Given the description of an element on the screen output the (x, y) to click on. 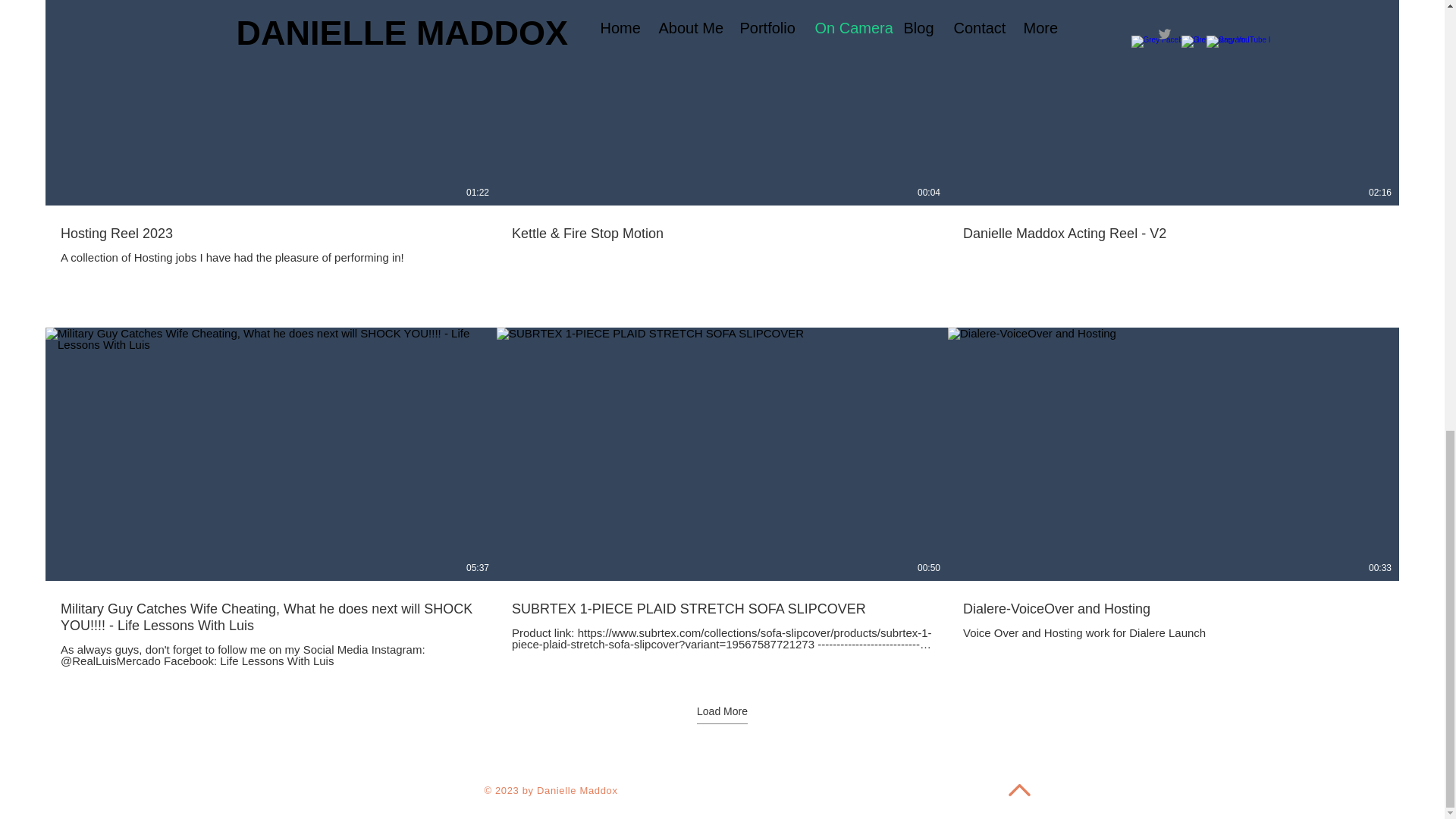
Hosting Reel 2023 (271, 233)
Danielle Maddox Acting Reel - V2 (1173, 224)
SUBRTEX 1-PIECE PLAID STRETCH SOFA SLIPCOVER (722, 608)
Load More (722, 714)
Dialere-VoiceOver and Hosting (1173, 608)
Danielle Maddox Acting Reel - V2 (1173, 233)
